Given the description of an element on the screen output the (x, y) to click on. 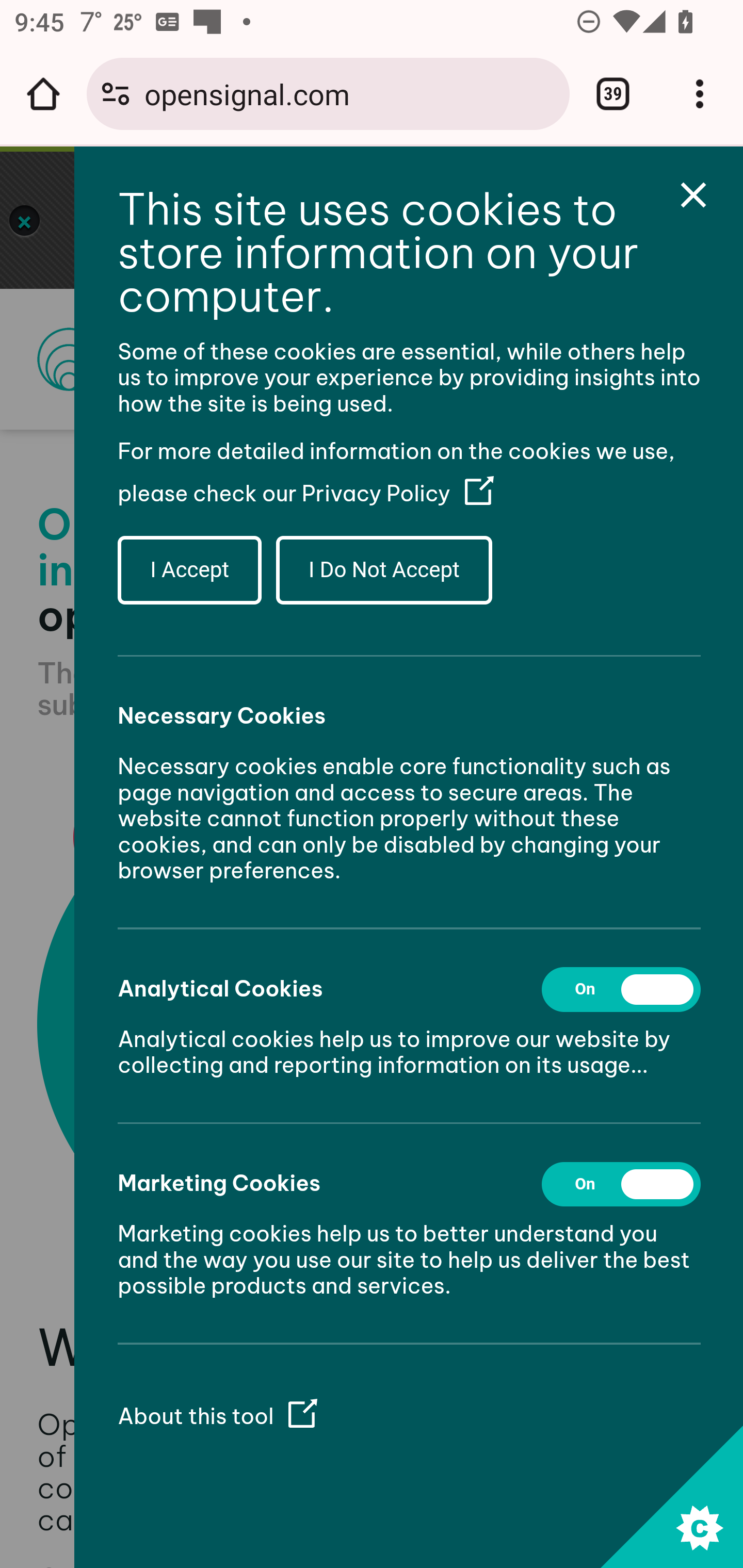
Open the home page (43, 93)
Connection is secure (115, 93)
Switch or close tabs (612, 93)
Customize and control Google Chrome (699, 93)
opensignal.com (349, 92)
Set cookie preferences (671, 1495)
